Given the description of an element on the screen output the (x, y) to click on. 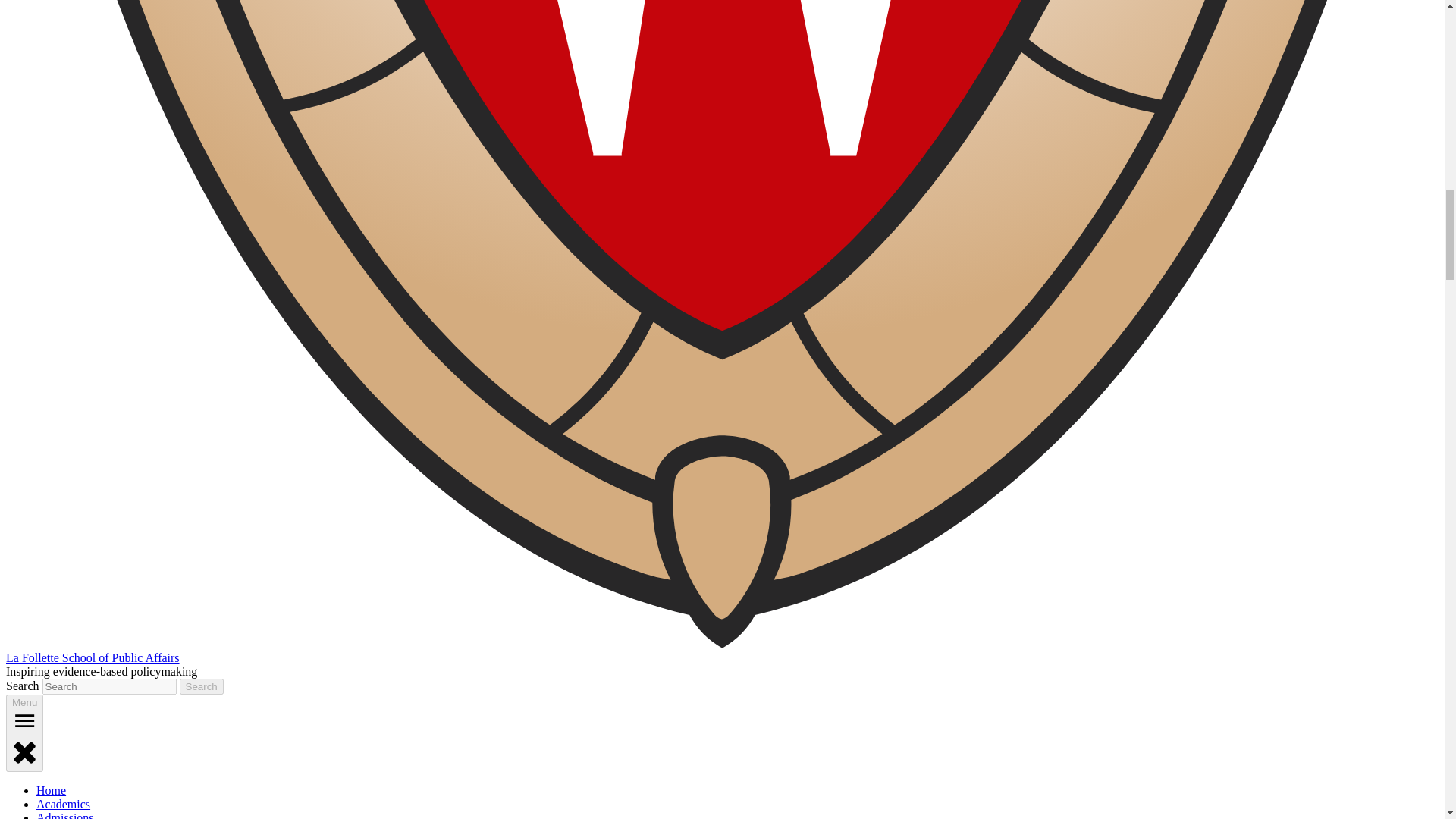
Search (201, 686)
Search (201, 686)
La Follette School of Public Affairs (92, 657)
Home (50, 789)
Search (201, 686)
Academics (63, 803)
open menu (24, 720)
Admissions (65, 815)
